Given the description of an element on the screen output the (x, y) to click on. 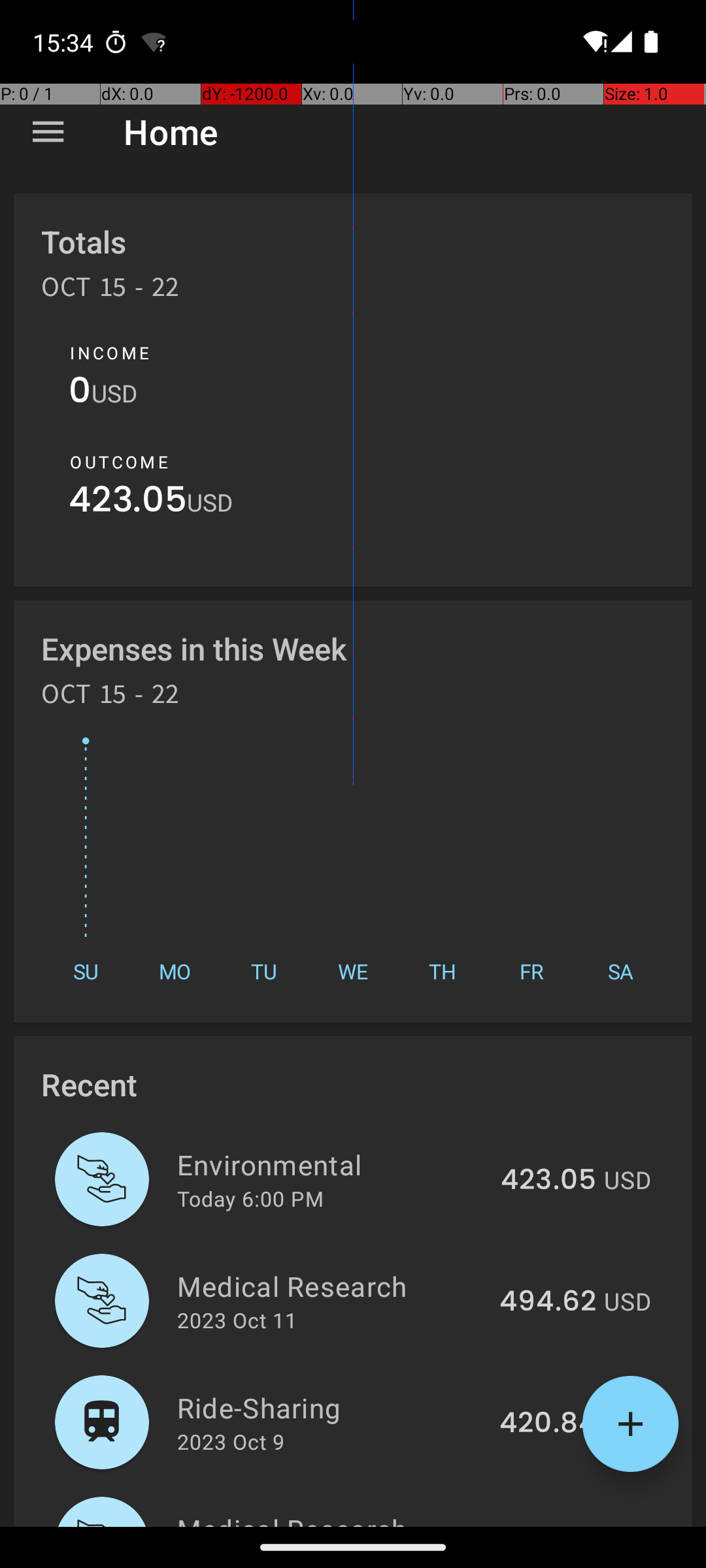
423.05 Element type: android.widget.TextView (127, 502)
Environmental Element type: android.widget.TextView (331, 1164)
Today 6:00 PM Element type: android.widget.TextView (250, 1198)
Medical Research Element type: android.widget.TextView (330, 1285)
2023 Oct 11 Element type: android.widget.TextView (236, 1320)
494.62 Element type: android.widget.TextView (547, 1301)
Ride-Sharing Element type: android.widget.TextView (330, 1407)
2023 Oct 9 Element type: android.widget.TextView (230, 1441)
420.84 Element type: android.widget.TextView (547, 1423)
270.43 Element type: android.widget.TextView (549, 1524)
Android System notification: AndroidWifi has limited connectivity Element type: android.widget.ImageView (153, 41)
Wifi signal full.,No internet Element type: android.widget.FrameLayout (593, 41)
